Given the description of an element on the screen output the (x, y) to click on. 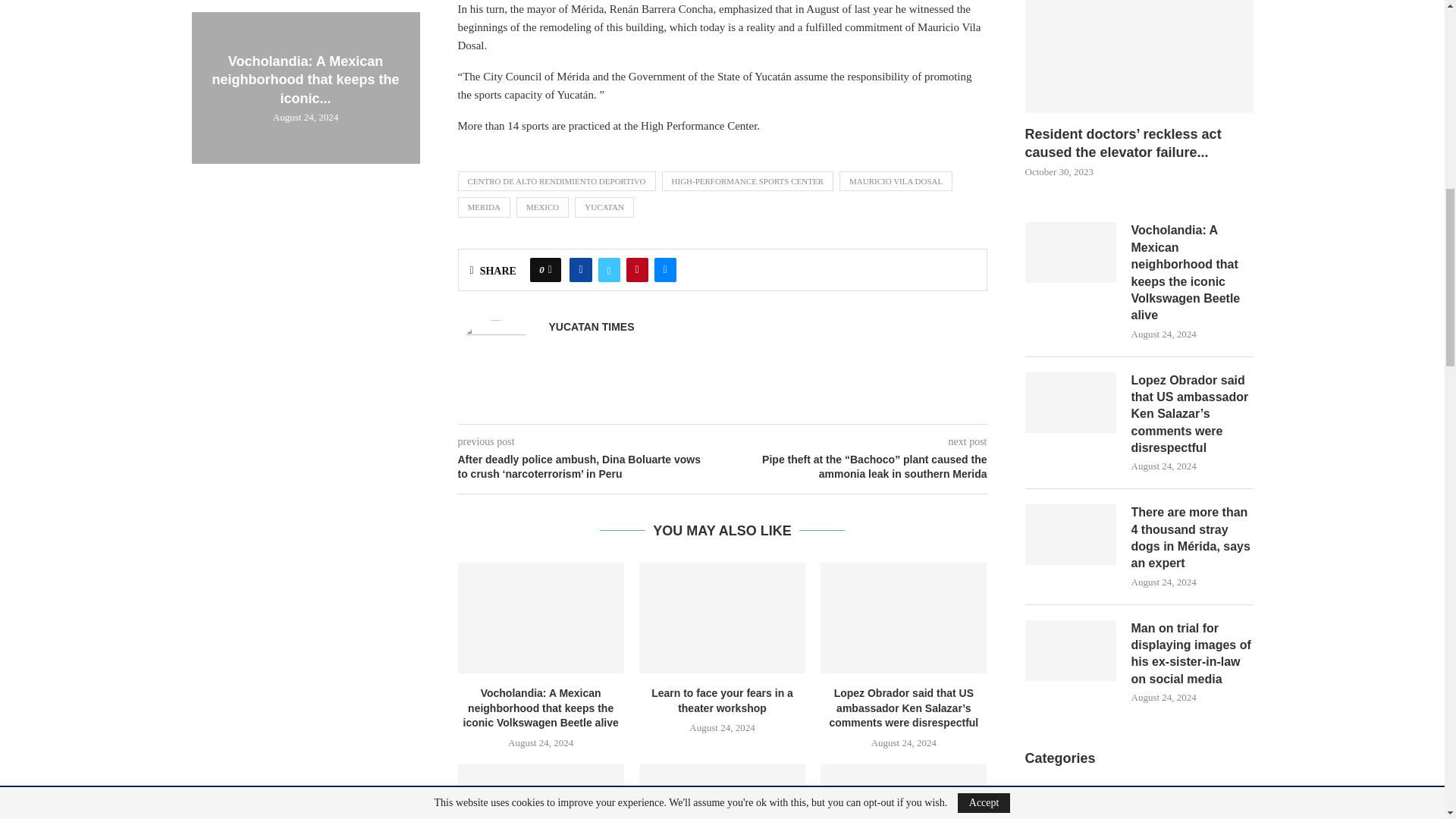
Learn to face your fears in a theater workshop (722, 617)
Author Yucatan Times (591, 327)
